Given the description of an element on the screen output the (x, y) to click on. 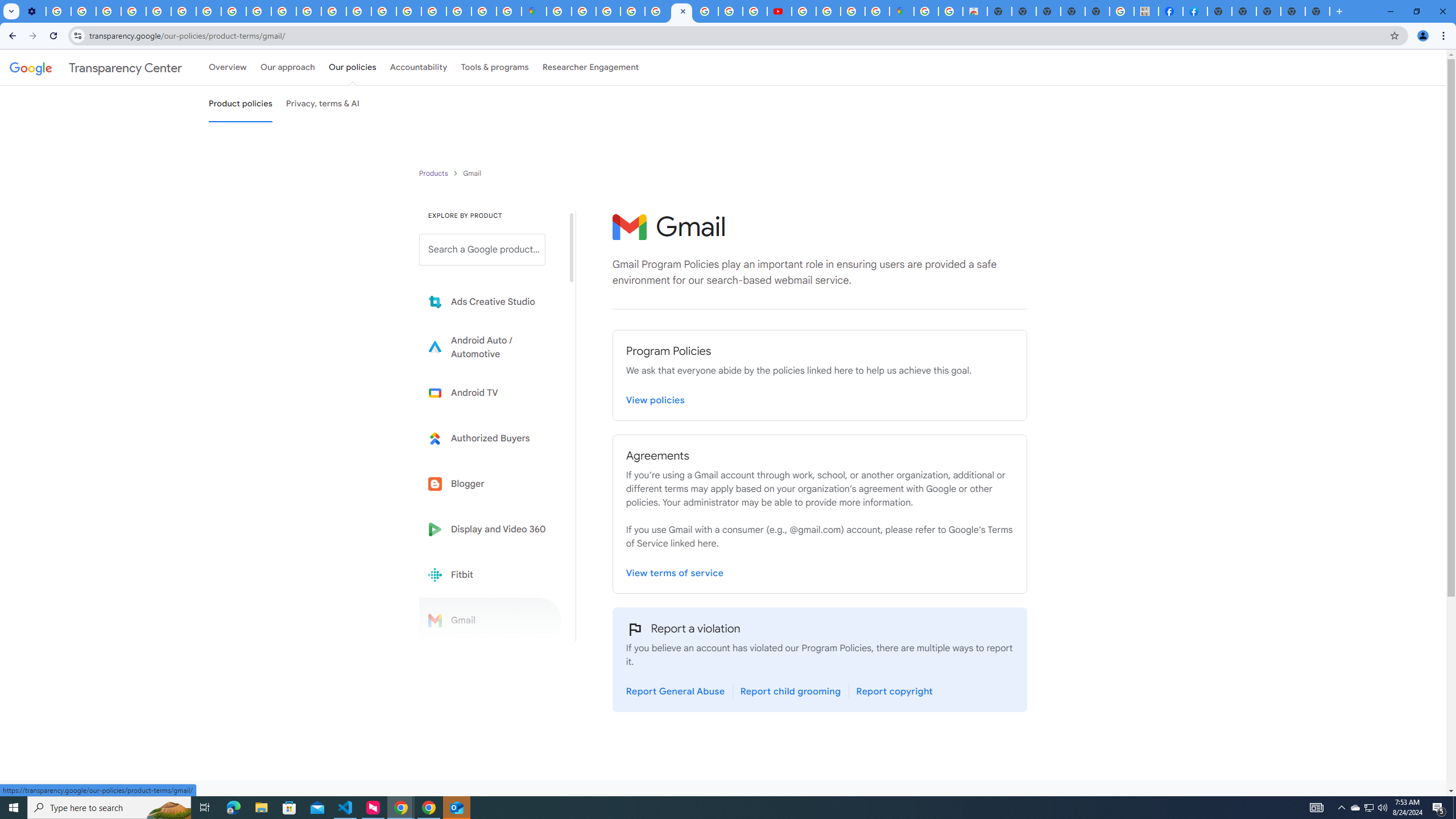
Review Gmail Program Policies page (655, 400)
Google Account Help (133, 11)
New Tab (1219, 11)
Researcher Engagement (590, 67)
Our policies (351, 67)
Read Gmail Report General Abuse page (675, 691)
Learn more about Authorized Buyers (490, 438)
